Given the description of an element on the screen output the (x, y) to click on. 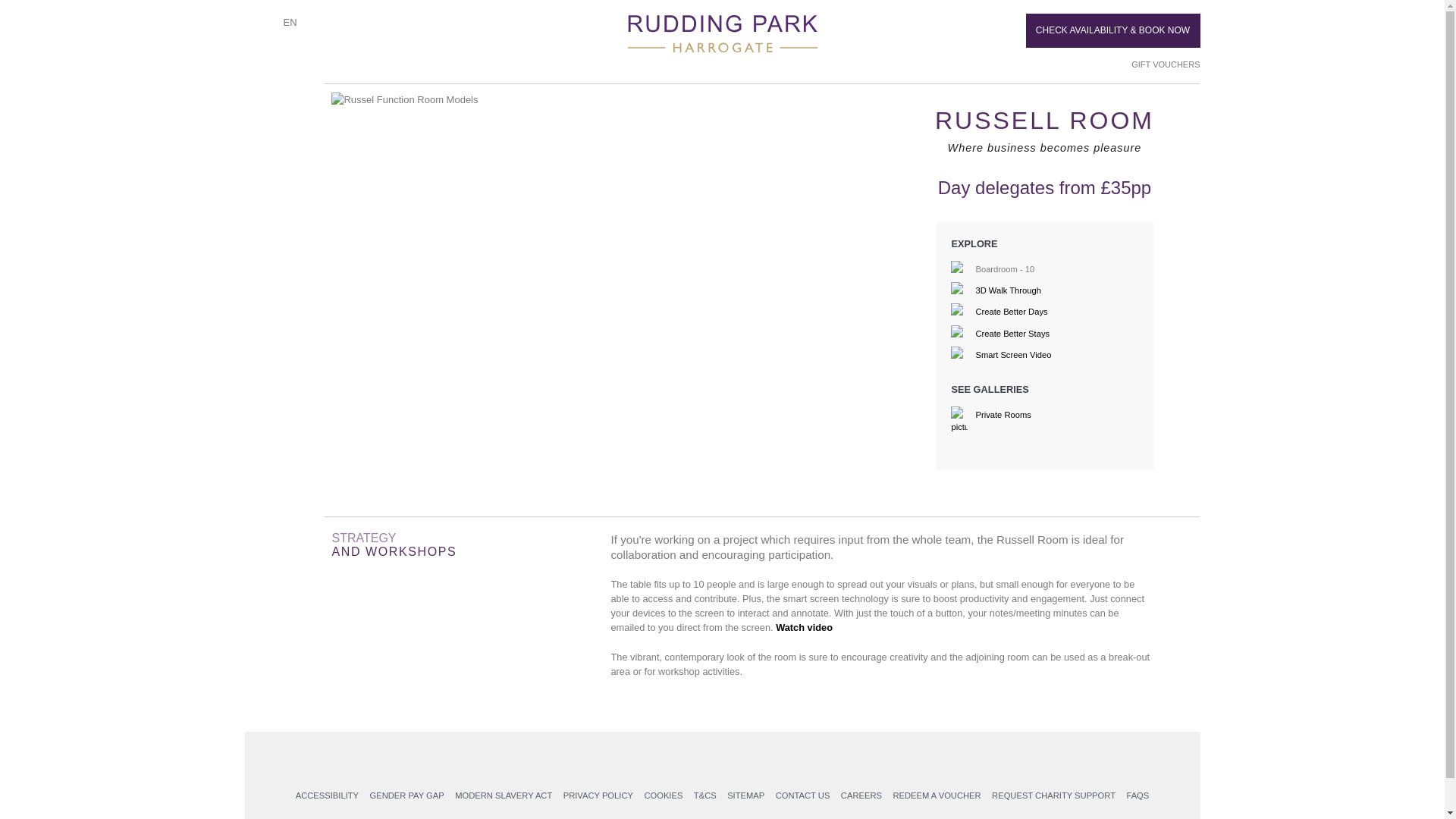
GIFT VOUCHERS (1159, 64)
Russel Function Room Models (605, 99)
ShowMenu (255, 27)
EN (290, 21)
